Given the description of an element on the screen output the (x, y) to click on. 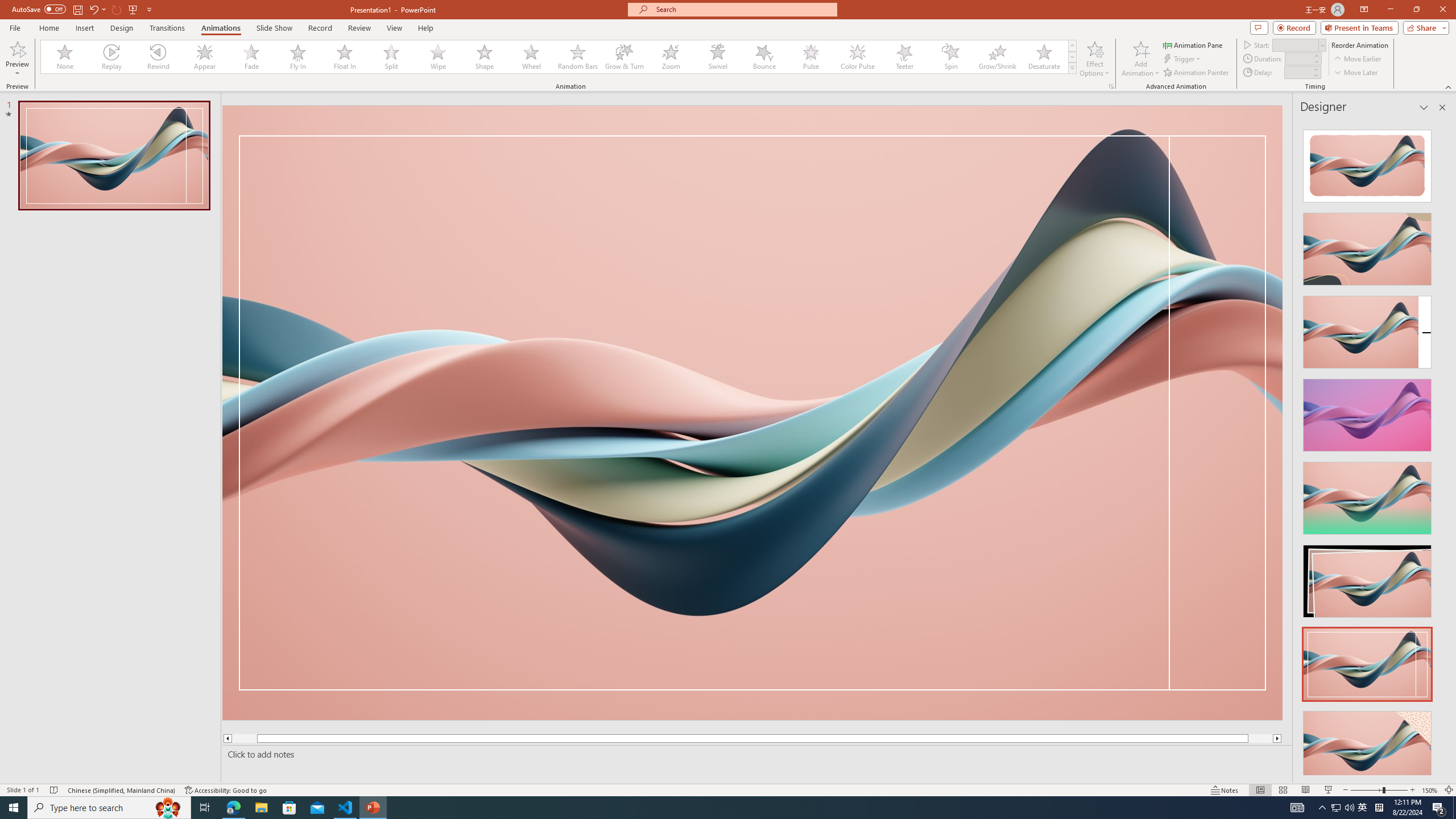
Animation Duration (1298, 58)
Split (391, 56)
Trigger (1182, 58)
Color Pulse (857, 56)
Add Animation (1141, 58)
Animation Delay (1297, 72)
Animation Pane (1193, 44)
